Given the description of an element on the screen output the (x, y) to click on. 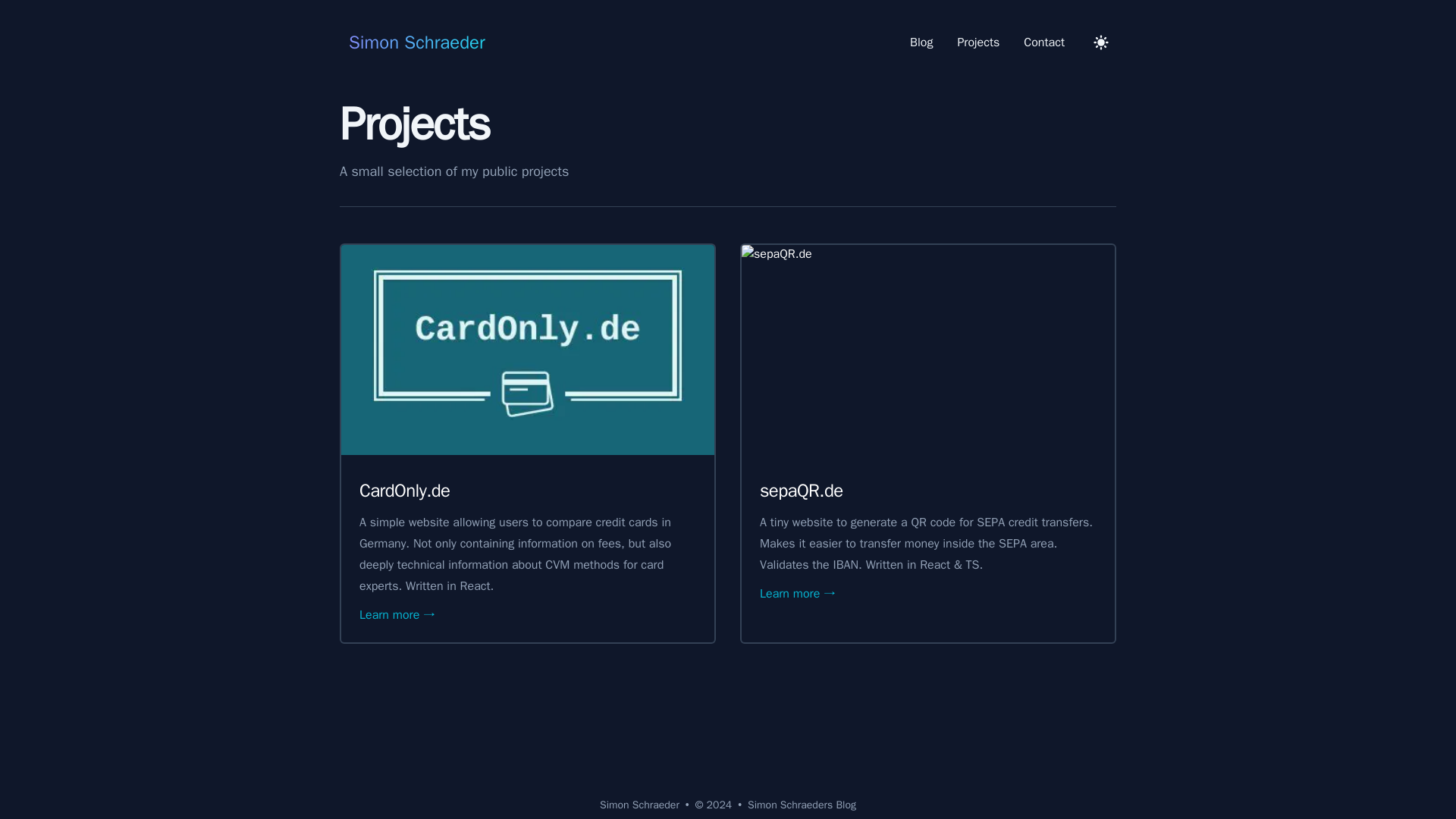
CardOnly.de (404, 490)
Projects (977, 42)
Blog (921, 42)
sepaQR.de (801, 490)
Contact (1044, 42)
Simon Schraeder (411, 42)
Simon Schraeders Blog (802, 805)
